Given the description of an element on the screen output the (x, y) to click on. 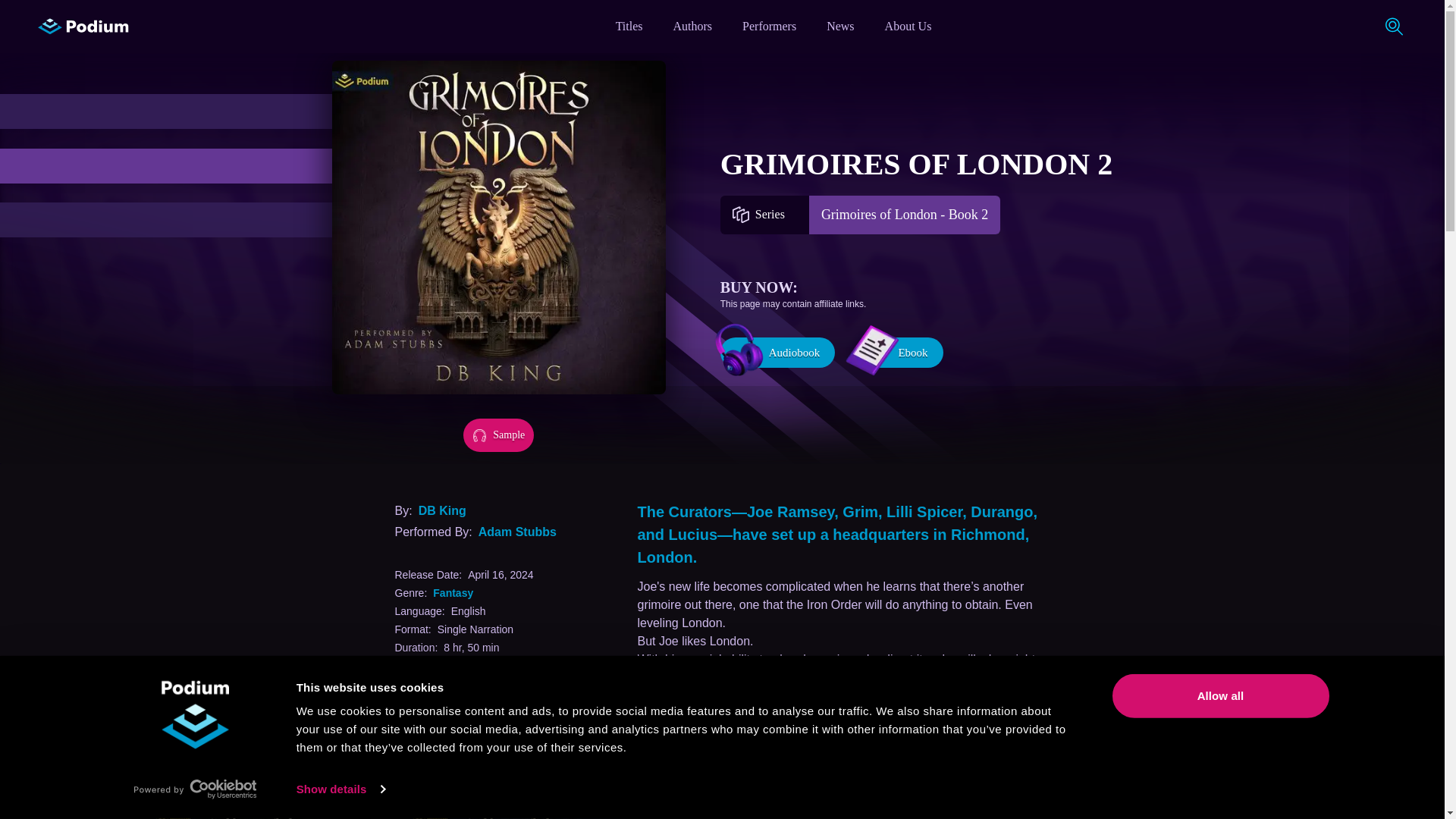
Show details (340, 789)
